Given the description of an element on the screen output the (x, y) to click on. 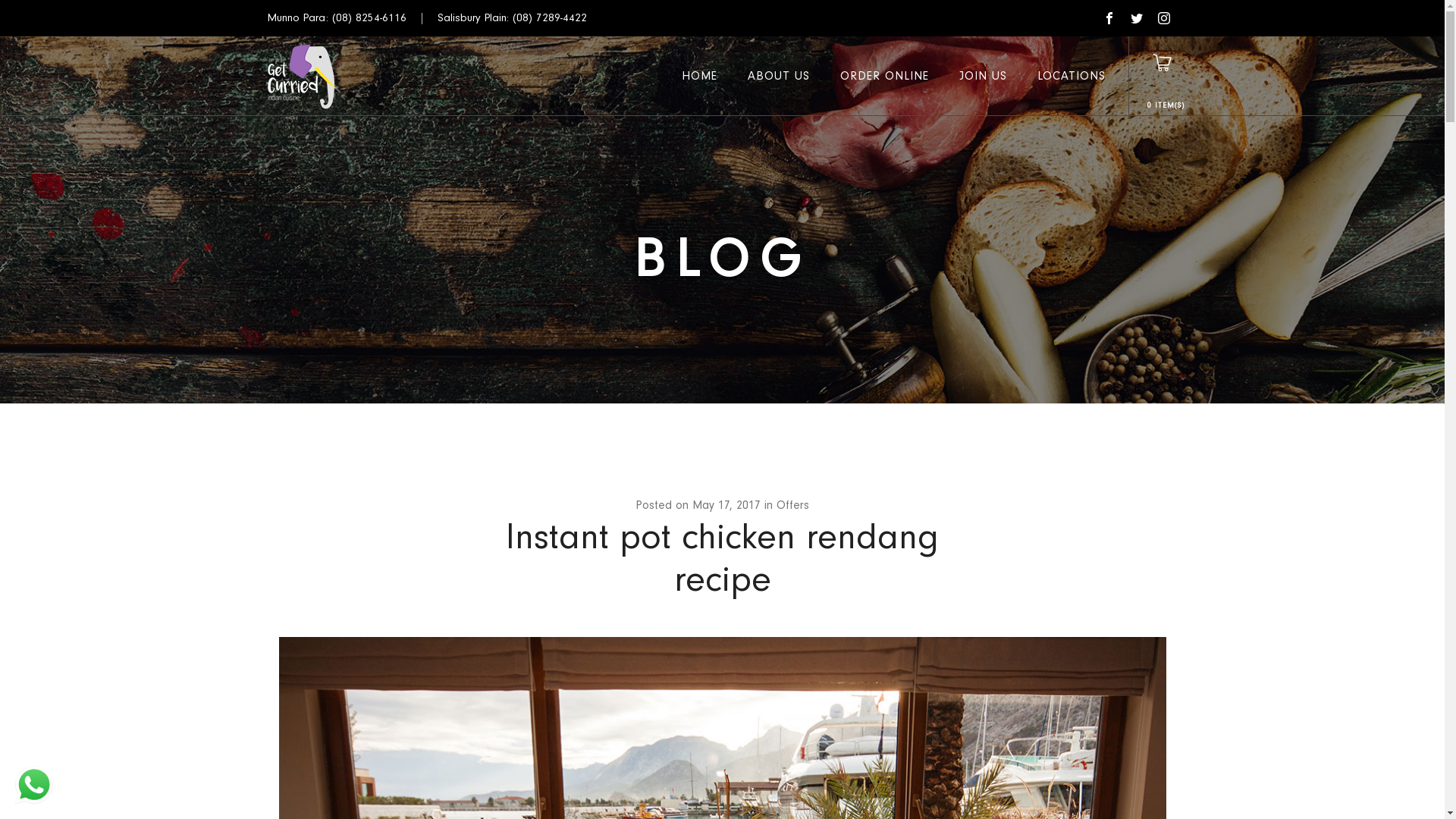
(08) 7289-4422 Element type: text (549, 17)
ORDER ONLINE Element type: text (884, 75)
facebook Element type: hover (1108, 18)
0 Element type: text (1148, 104)
WhatsApp us Element type: hover (34, 784)
instagram Element type: hover (1162, 18)
ABOUT US Element type: text (778, 75)
LOCATIONS Element type: text (1071, 75)
Offers Element type: text (792, 504)
Indian Food Restaurant Munno Para North Adelaide Australia Element type: hover (300, 75)
HOME Element type: text (698, 75)
twitter Element type: hover (1135, 18)
JOIN US Element type: text (982, 75)
(08) 8254-6116 Element type: text (369, 17)
